Given the description of an element on the screen output the (x, y) to click on. 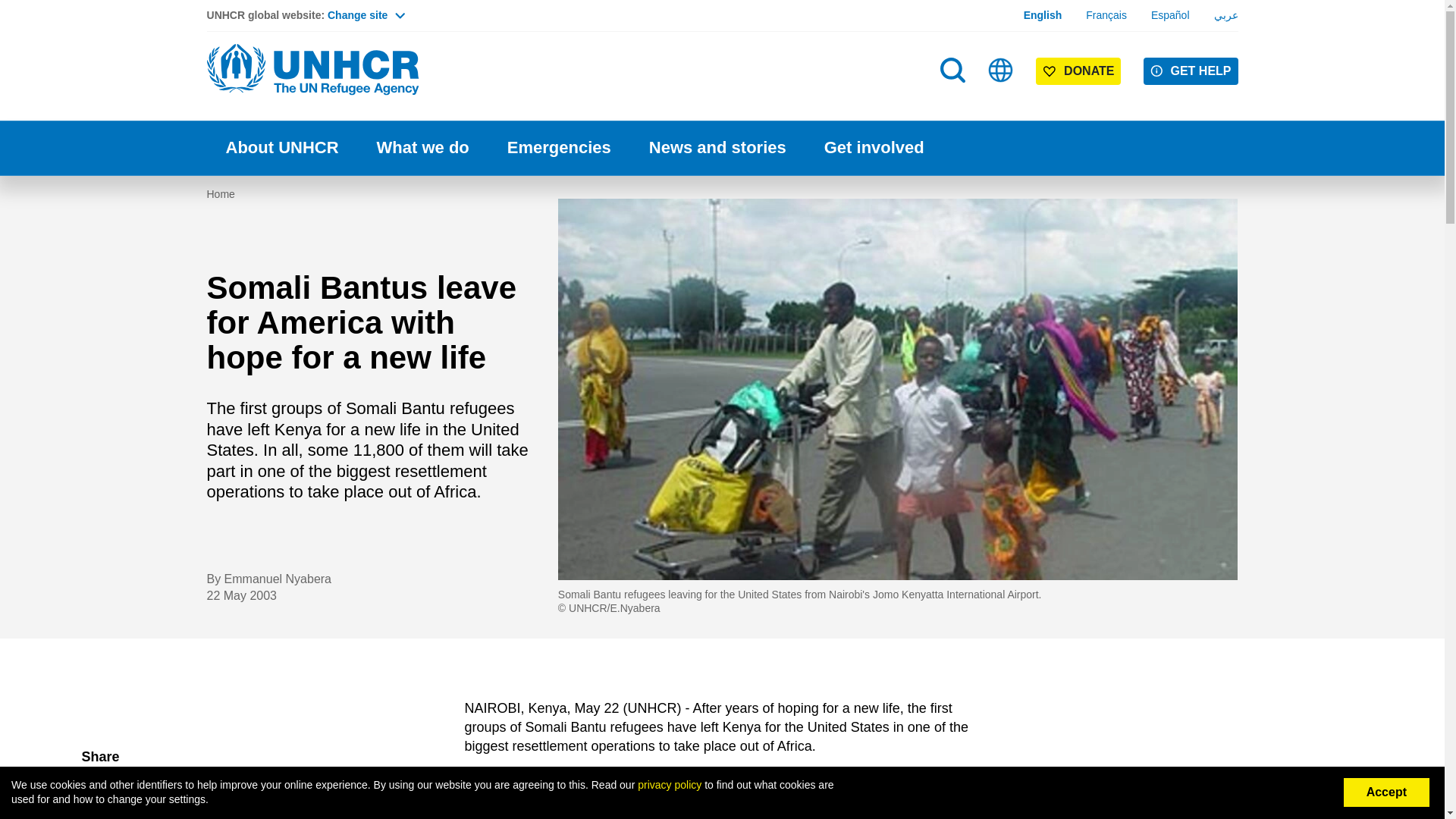
DONATE (1078, 71)
Skip to main content (721, 1)
GET HELP (1189, 71)
English (1042, 15)
Search (952, 69)
Home (312, 69)
Sites (1000, 69)
Change site (365, 15)
Search (954, 99)
About UNHCR (281, 148)
